Given the description of an element on the screen output the (x, y) to click on. 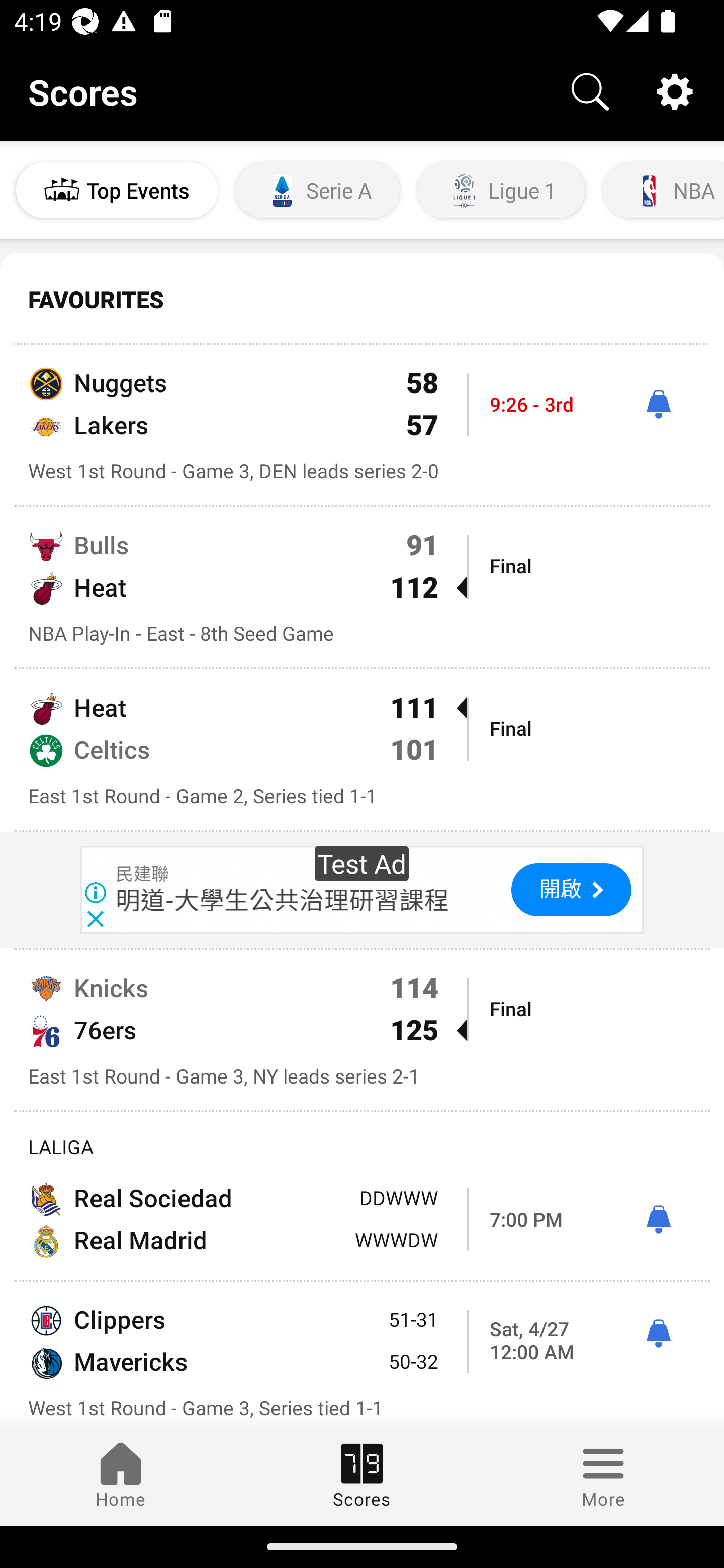
Search (590, 90)
Settings (674, 90)
 Top Events (116, 190)
Serie A (317, 190)
Ligue 1 (500, 190)
NBA (661, 190)
FAVOURITES (362, 299)
ì (658, 404)
ì (658, 1219)
ì (658, 1334)
Home (120, 1475)
More (603, 1475)
